Given the description of an element on the screen output the (x, y) to click on. 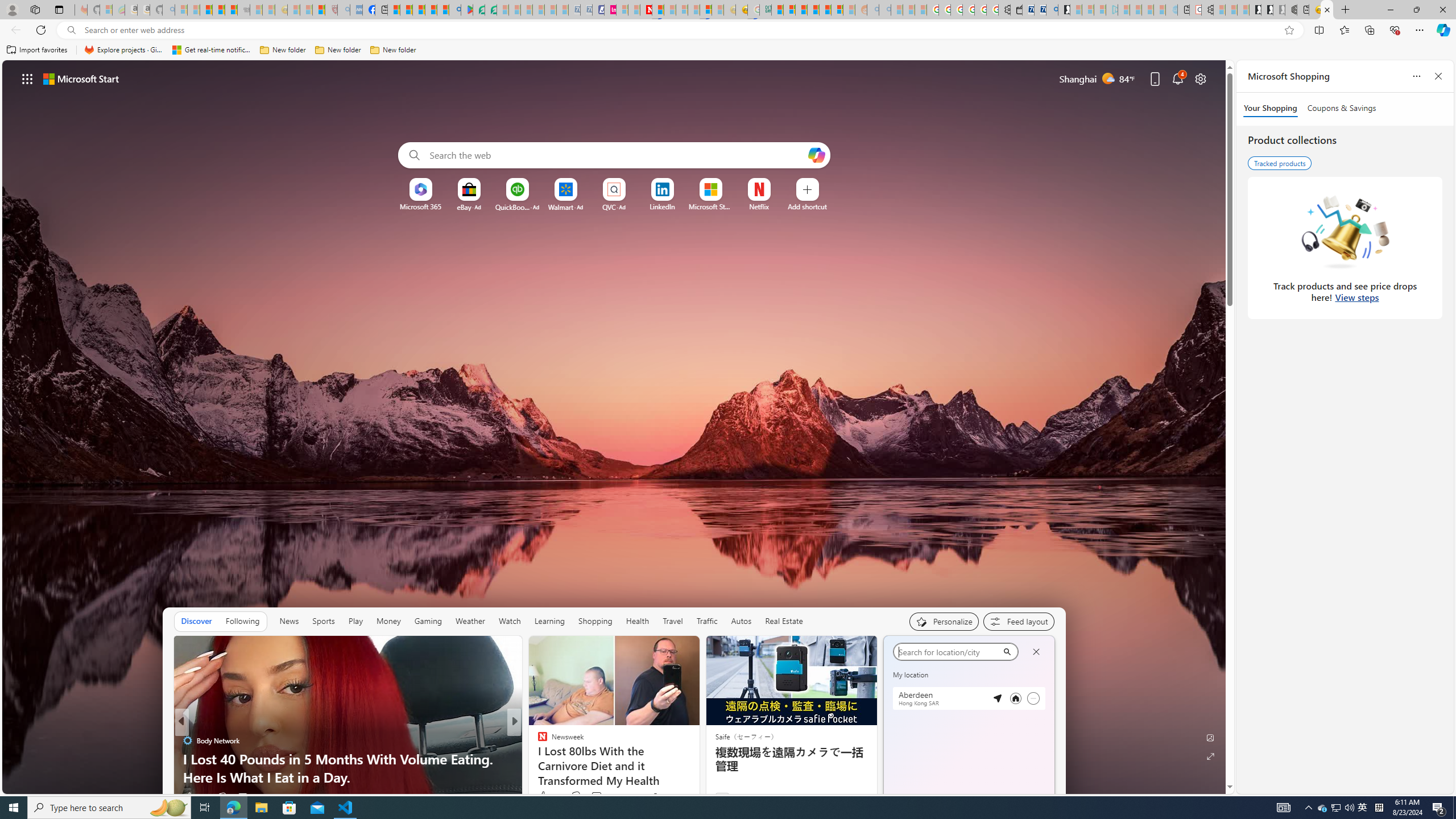
XDA Developers (537, 758)
View comments 31 Comment (241, 797)
Autos (740, 621)
Learning (549, 621)
